Given the description of an element on the screen output the (x, y) to click on. 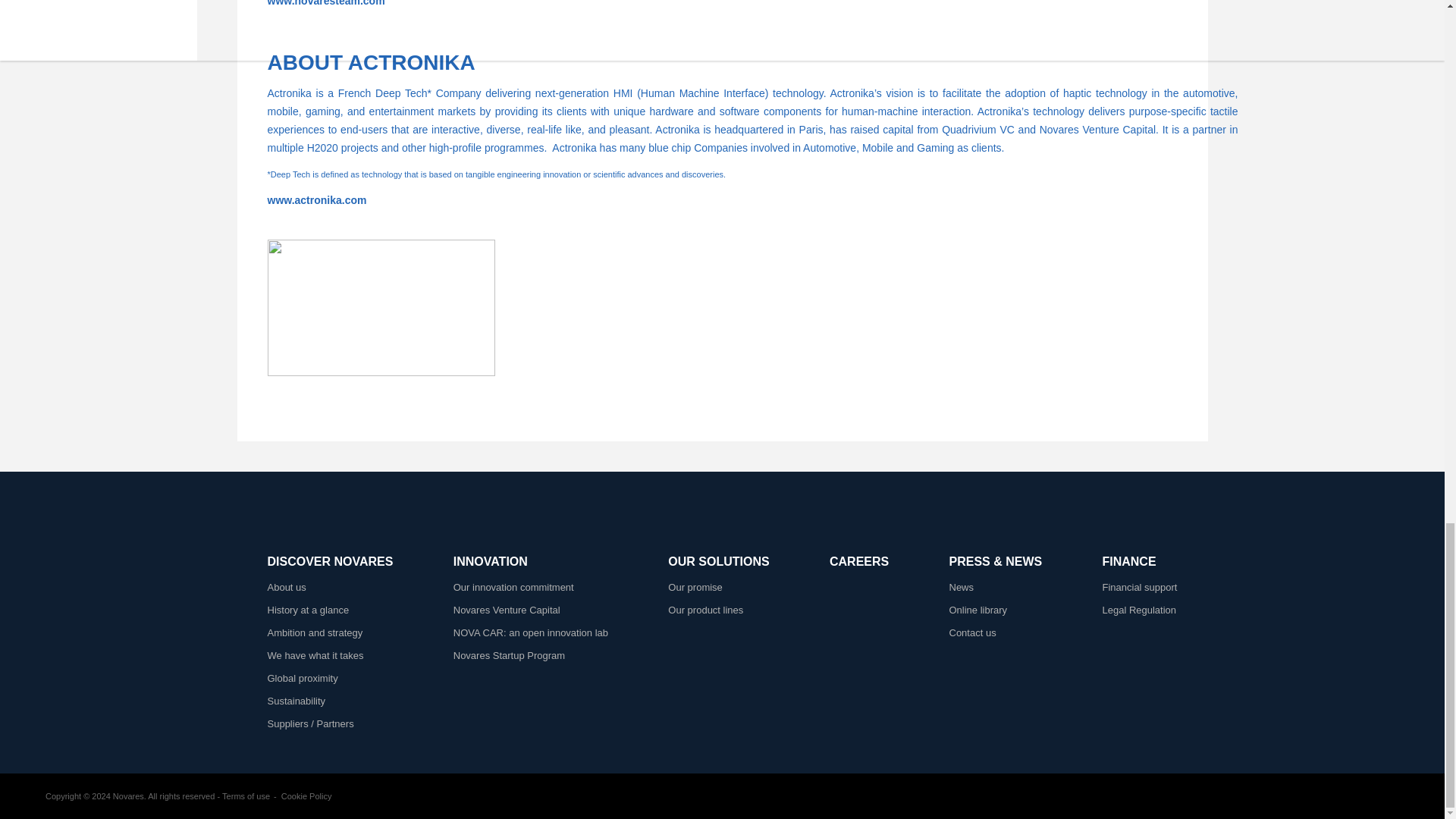
Ambition and strategy (314, 632)
logo-baseline-600-360 (380, 307)
www.novaresteam.com (325, 3)
Global proximity (301, 677)
www.actronika.com (316, 200)
History at a glance (307, 609)
We have what it takes (314, 655)
About us (285, 586)
